Given the description of an element on the screen output the (x, y) to click on. 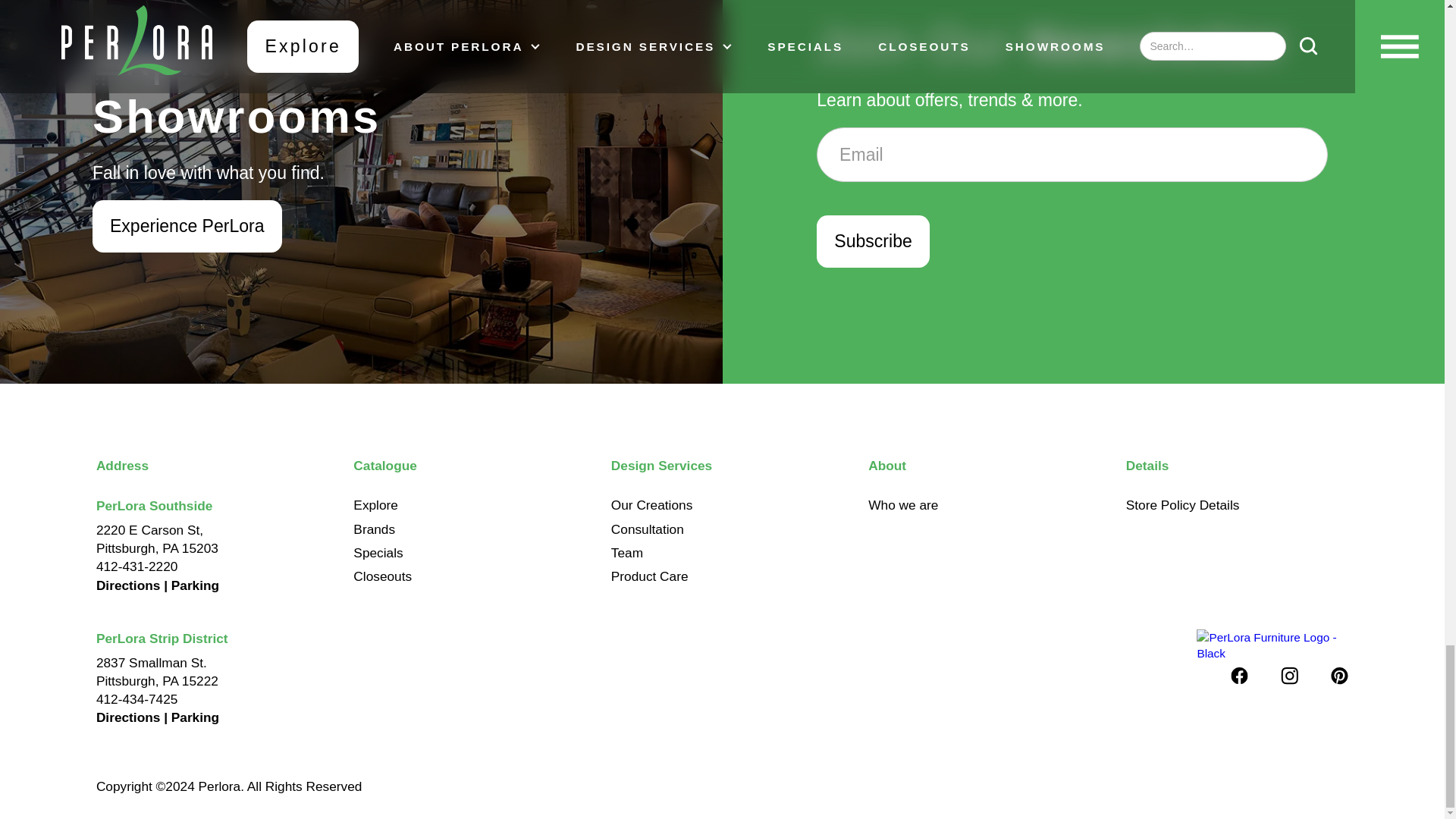
Subscribe (872, 241)
